Given the description of an element on the screen output the (x, y) to click on. 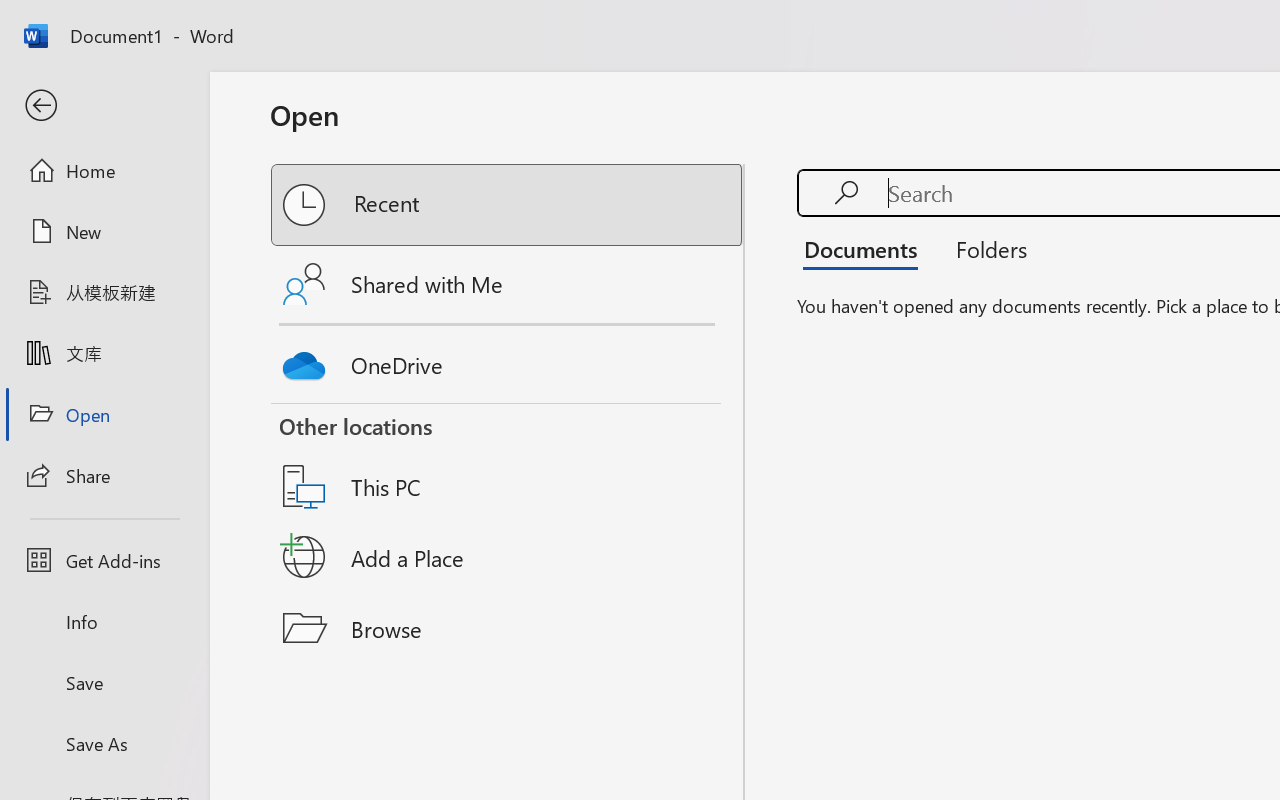
Folders (984, 248)
Info (104, 621)
OneDrive (507, 359)
This PC (507, 461)
Documents (866, 248)
Save As (104, 743)
New (104, 231)
Recent (507, 205)
Add a Place (507, 557)
Shared with Me (507, 283)
